Given the description of an element on the screen output the (x, y) to click on. 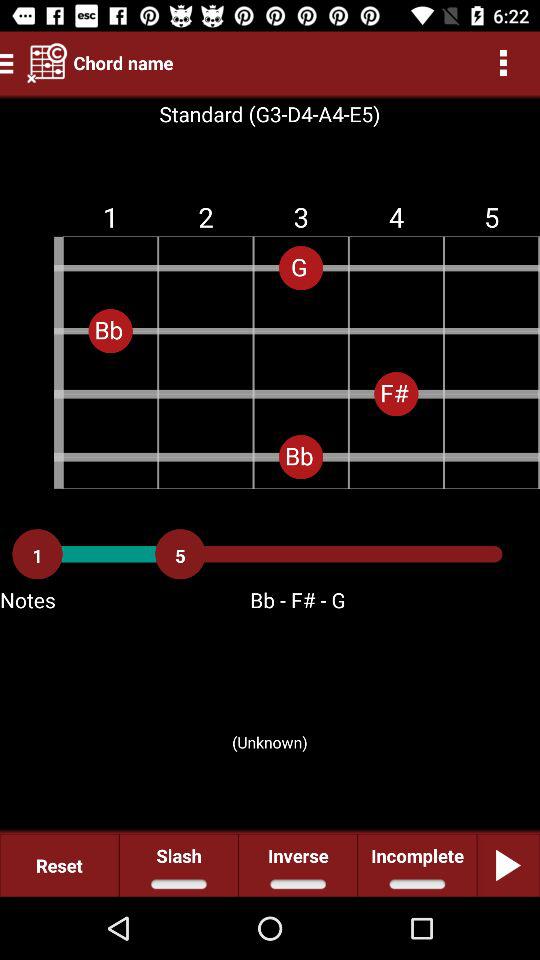
turn on the item to the right of the slash item (297, 864)
